Given the description of an element on the screen output the (x, y) to click on. 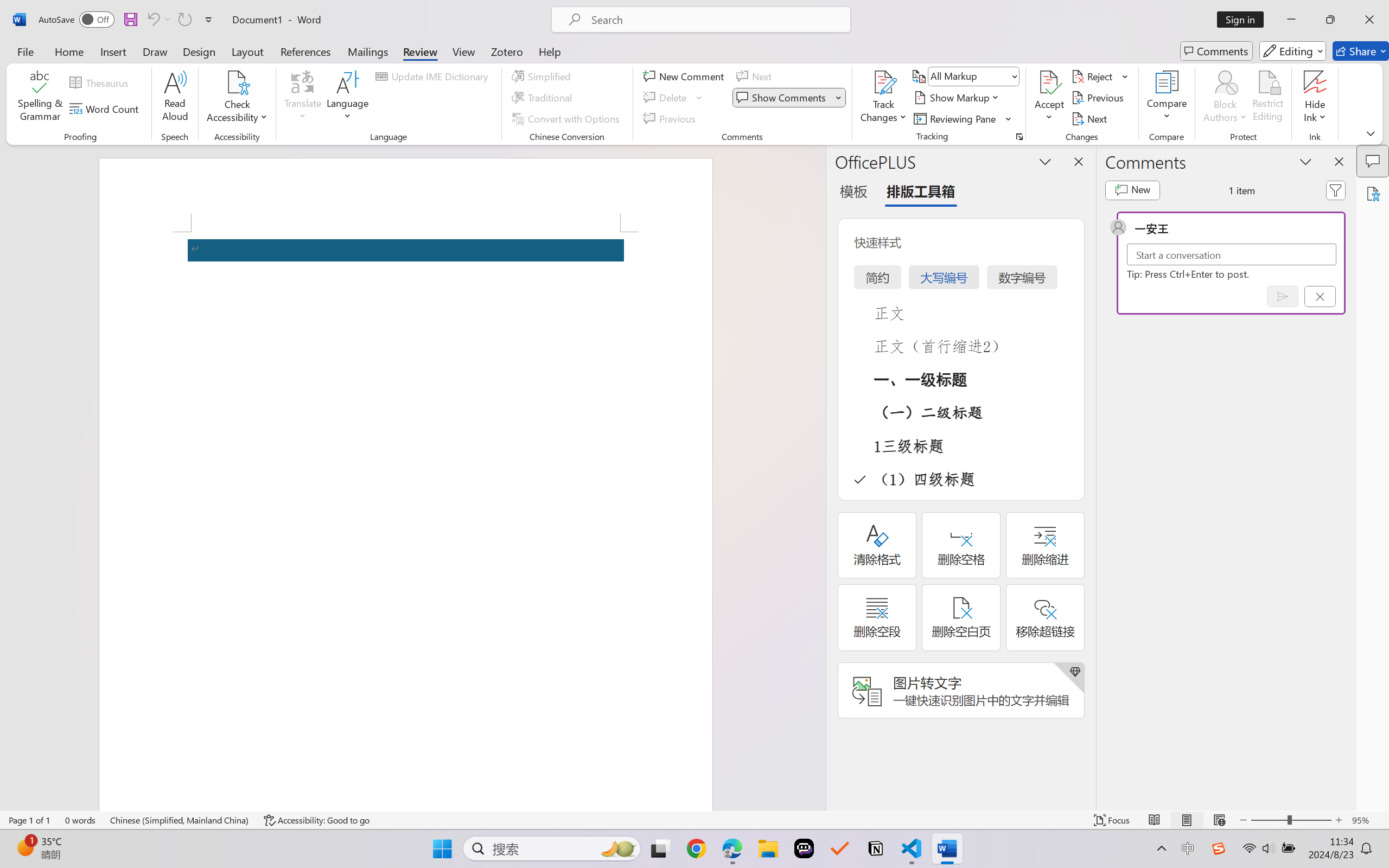
Word Count (105, 108)
Translate (303, 97)
Restrict Editing (1267, 97)
Change Tracking Options... (1019, 136)
Hide Ink (1315, 97)
